Given the description of an element on the screen output the (x, y) to click on. 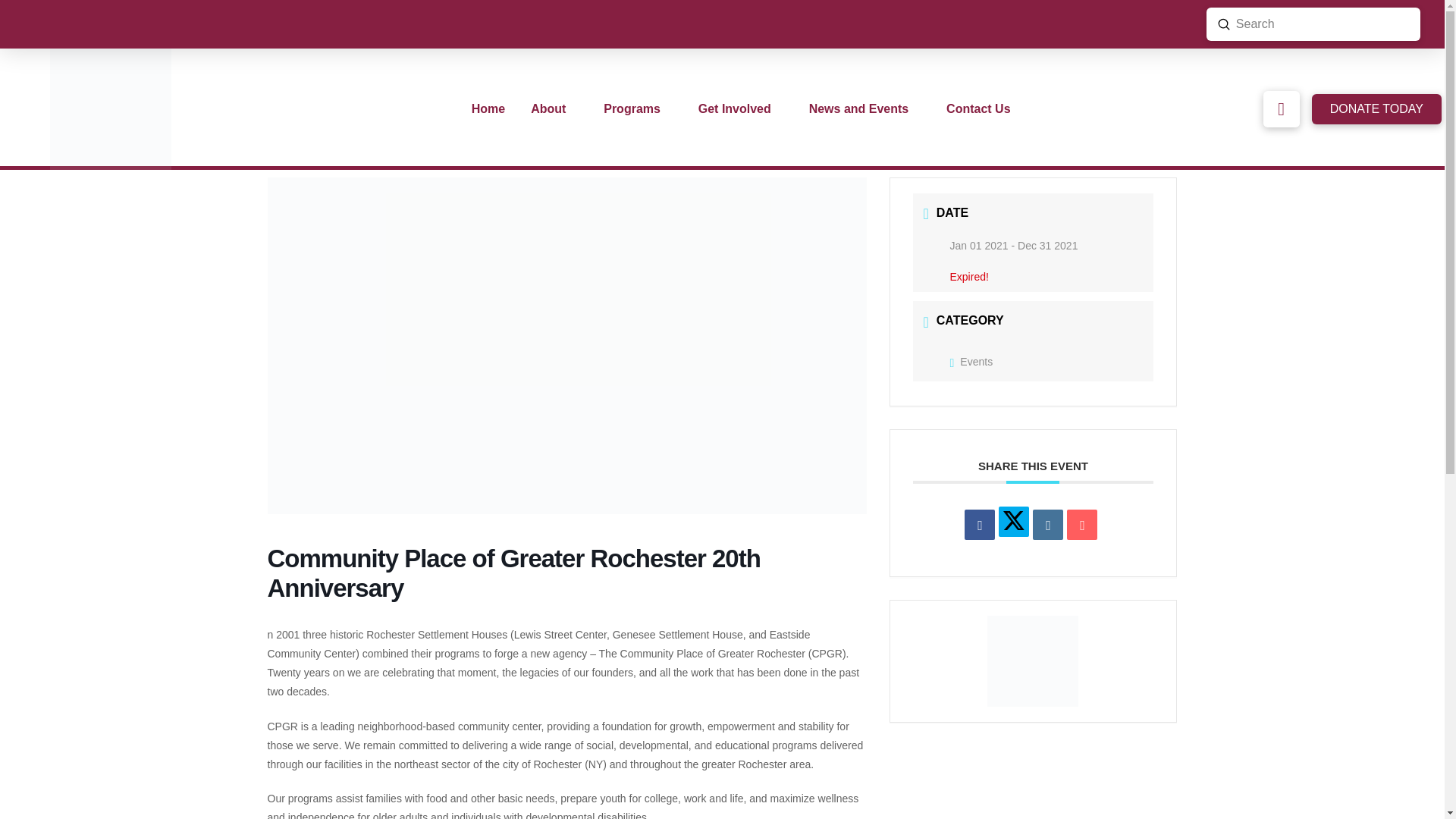
Submit (1223, 24)
Email (1082, 524)
X Social Network (1013, 521)
Events (970, 361)
Get Involved (740, 108)
News and Events (864, 108)
Share on Facebook (978, 524)
Linkedin (1047, 524)
DONATE TODAY (1376, 109)
